Given the description of an element on the screen output the (x, y) to click on. 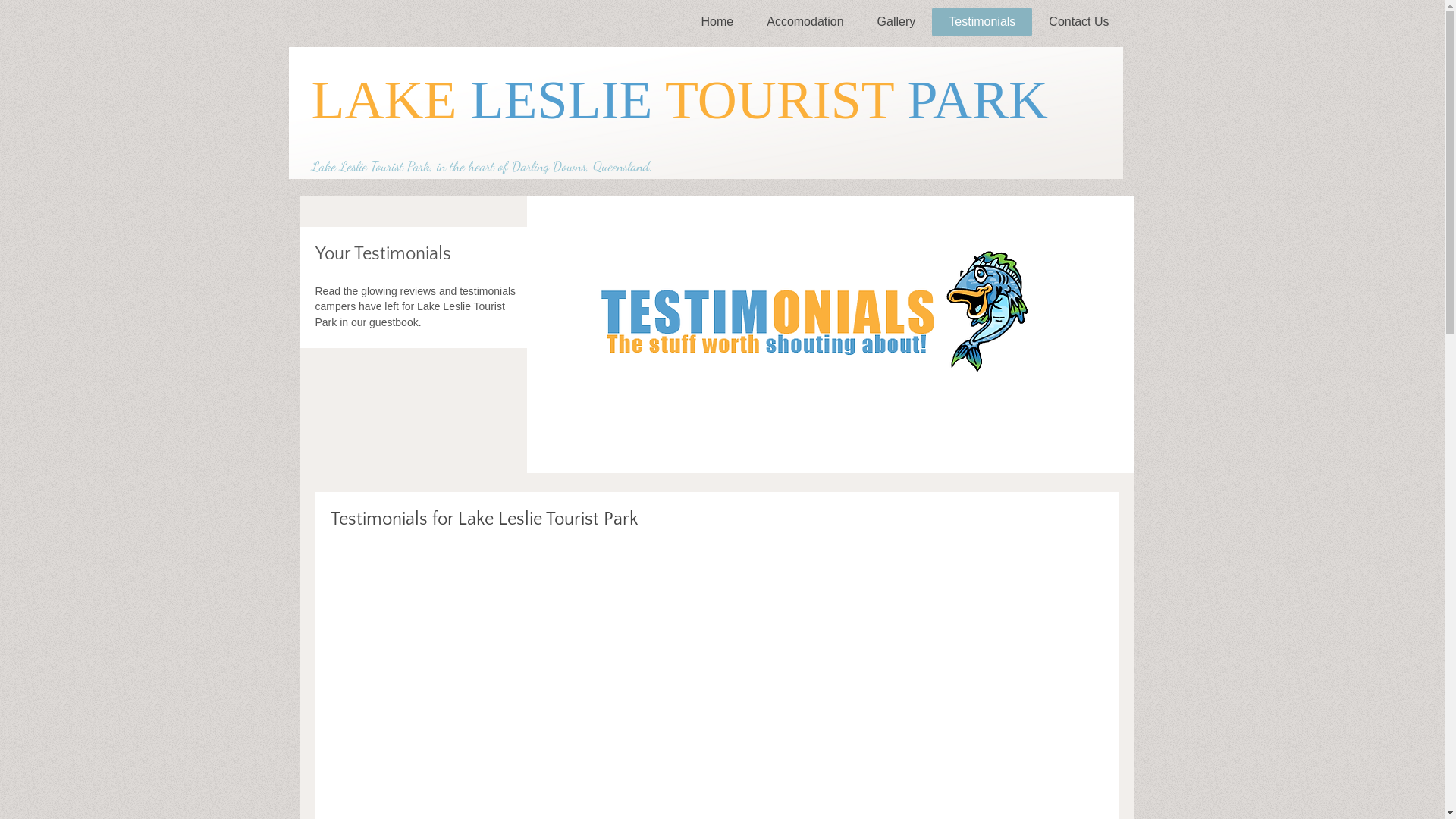
Gallery Element type: text (896, 21)
Accomodation Element type: text (804, 21)
Contact Us Element type: text (1078, 21)
Home Element type: text (716, 21)
Testimonials Element type: text (981, 21)
